Given the description of an element on the screen output the (x, y) to click on. 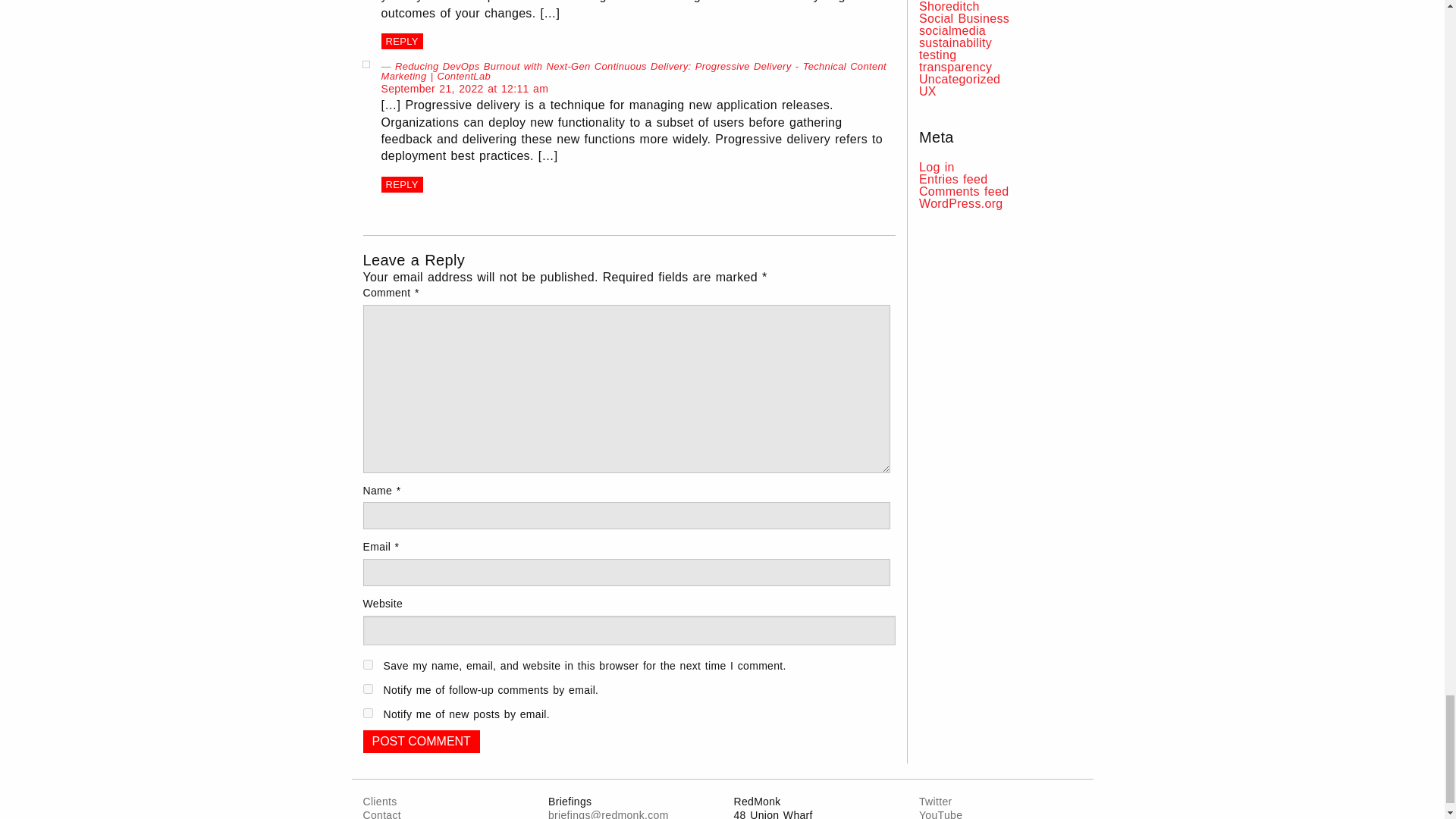
Post Comment (420, 740)
subscribe (367, 713)
yes (367, 664)
subscribe (367, 688)
